Given the description of an element on the screen output the (x, y) to click on. 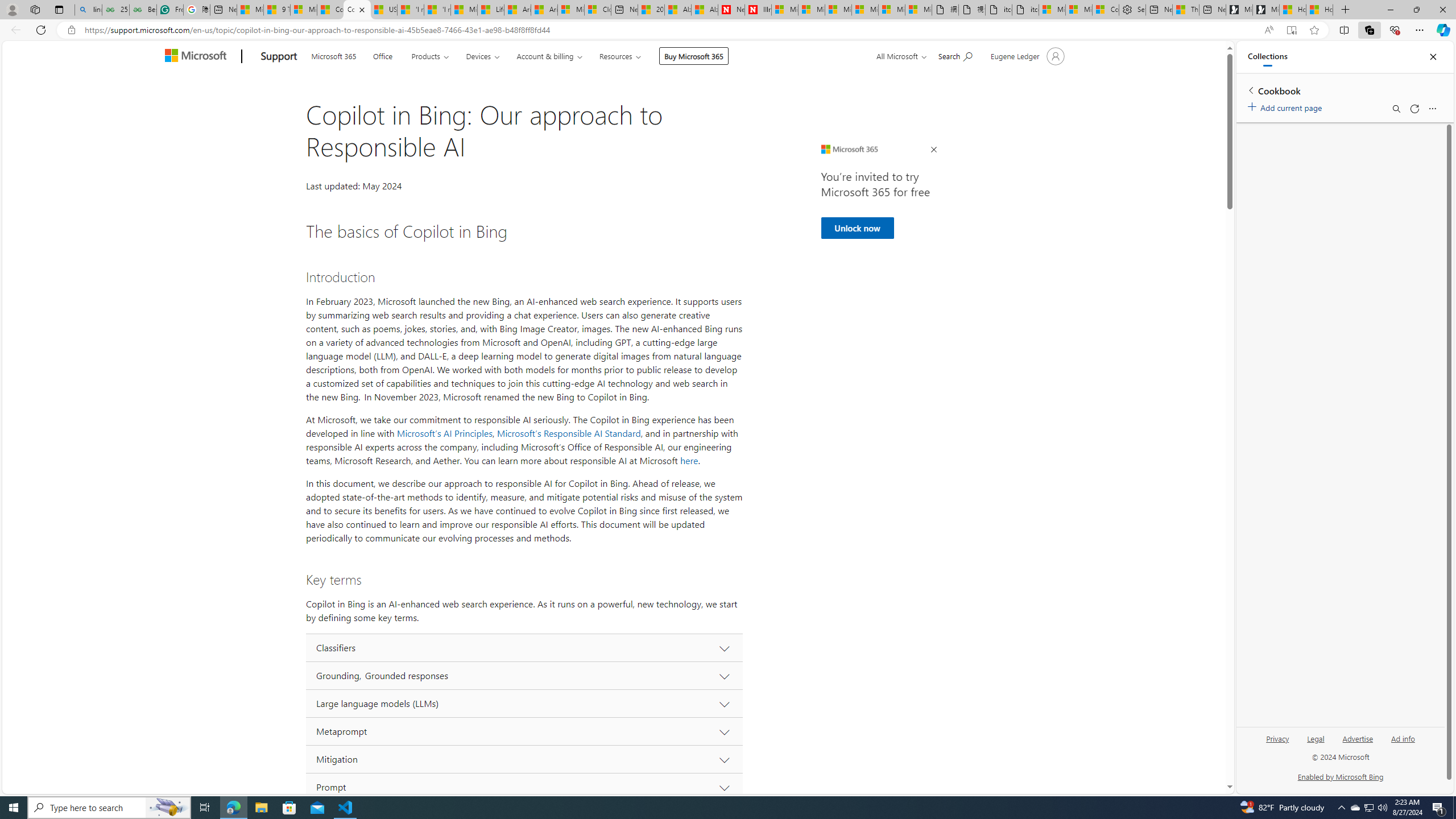
linux basic - Search (87, 9)
Free AI Writing Assistance for Students | Grammarly (169, 9)
Search for help (954, 54)
here (688, 460)
Buy Microsoft 365 (693, 55)
Newsweek - News, Analysis, Politics, Business, Technology (731, 9)
